Given the description of an element on the screen output the (x, y) to click on. 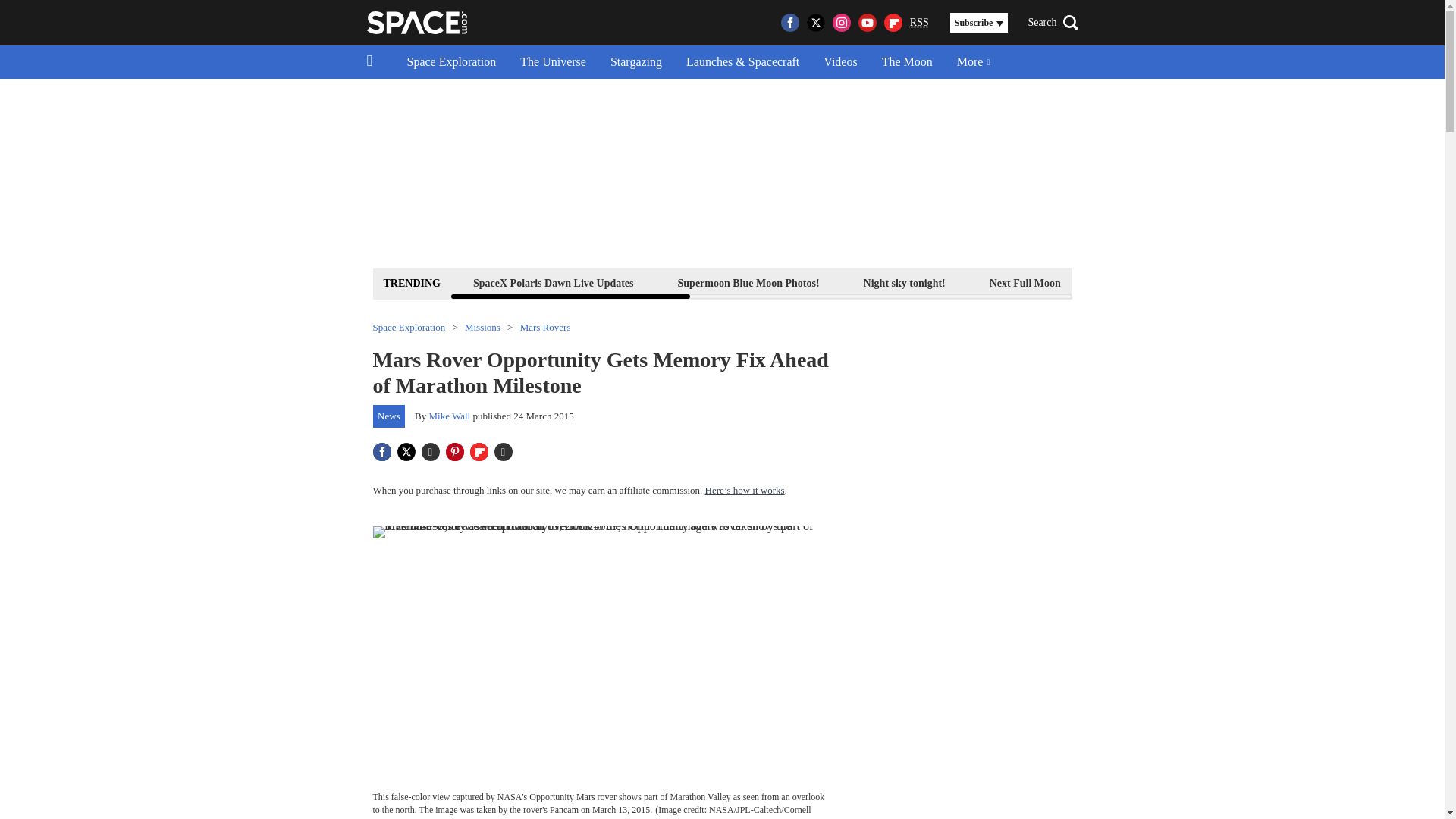
Stargazing (636, 61)
The Moon (906, 61)
The Universe (553, 61)
Videos (839, 61)
Space Exploration (451, 61)
Really Simple Syndication (919, 21)
SpaceX Polaris Dawn Live Updates (553, 282)
RSS (919, 22)
Best Telescopes (1139, 282)
Next Full Moon (1024, 282)
